Given the description of an element on the screen output the (x, y) to click on. 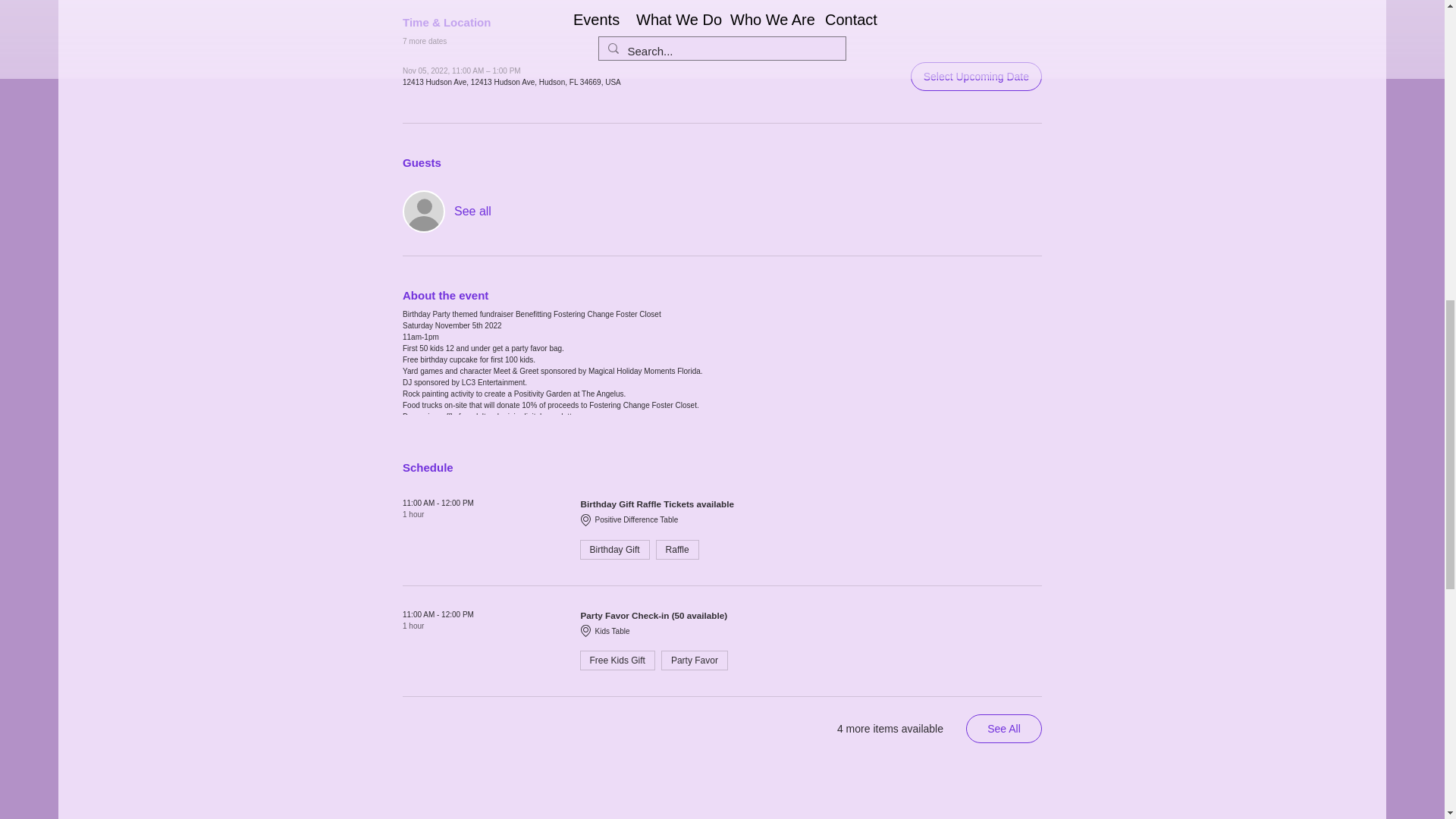
See all (473, 211)
Select Upcoming Date (976, 76)
See All (1004, 728)
